Given the description of an element on the screen output the (x, y) to click on. 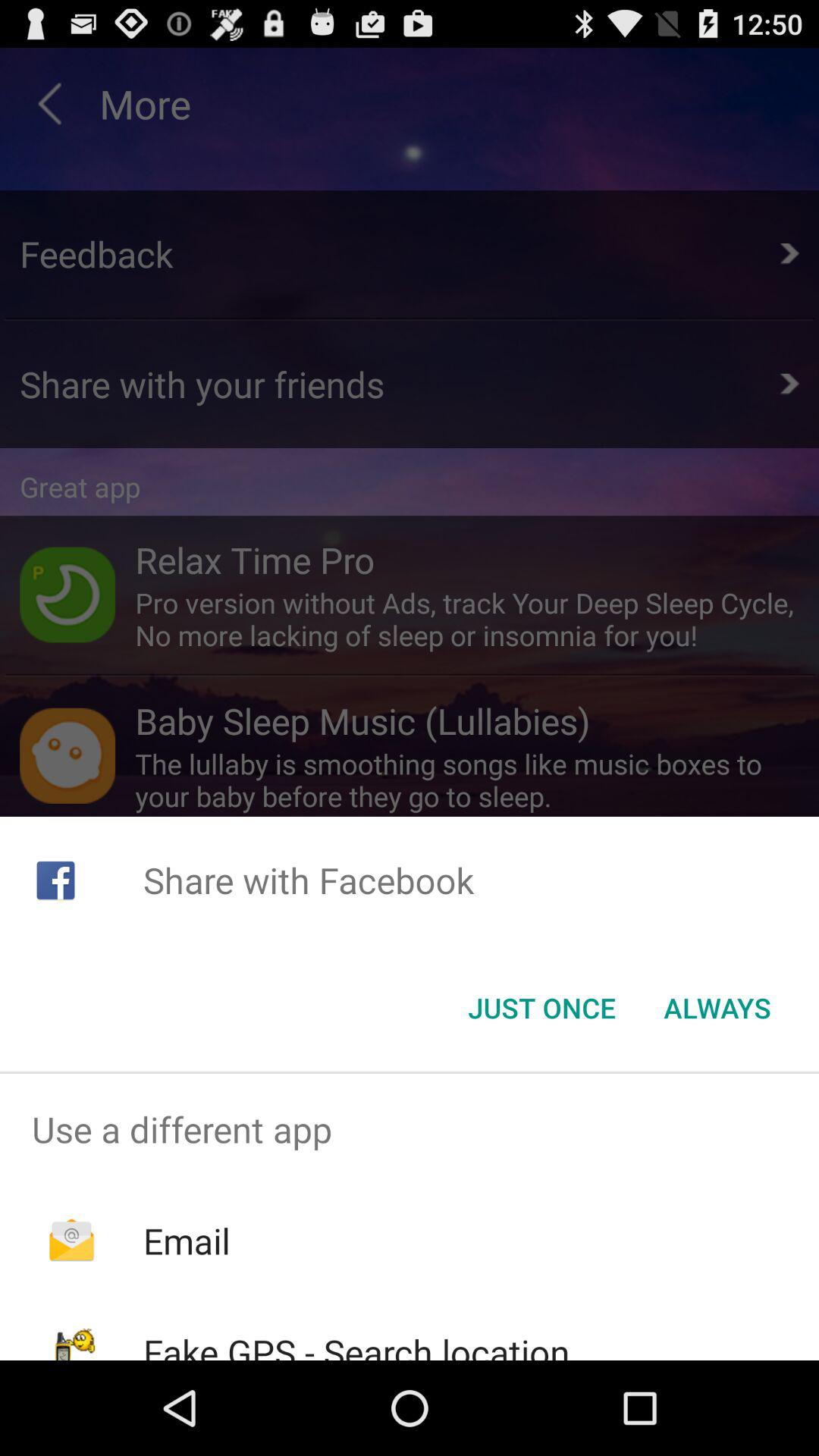
tap item below the share with facebook item (717, 1007)
